Given the description of an element on the screen output the (x, y) to click on. 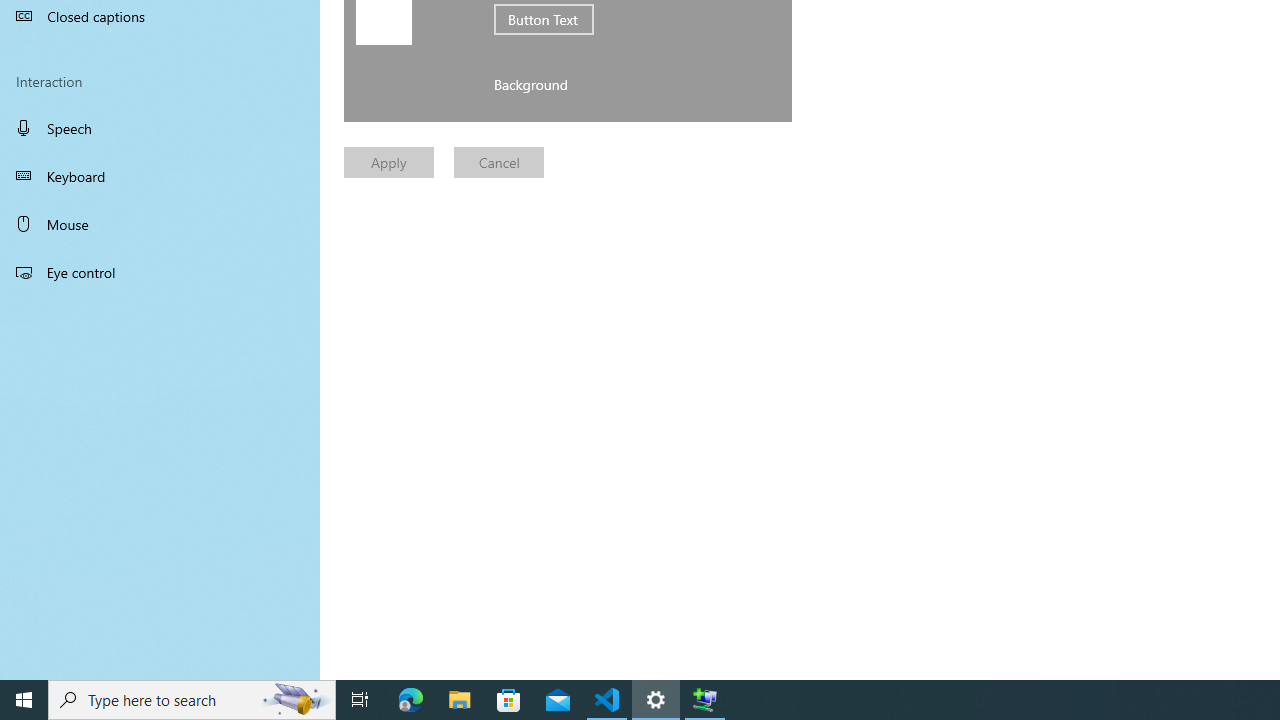
Eye control (160, 271)
Microsoft Edge (411, 699)
Cancel (499, 161)
Apply (388, 161)
Extensible Wizards Host Process - 1 running window (704, 699)
Speech (160, 127)
Search highlights icon opens search home window (295, 699)
Microsoft Store (509, 699)
Type here to search (191, 699)
Background color (418, 84)
Visual Studio Code - 1 running window (607, 699)
File Explorer (460, 699)
Start (24, 699)
Settings - 1 running window (656, 699)
Task View (359, 699)
